Given the description of an element on the screen output the (x, y) to click on. 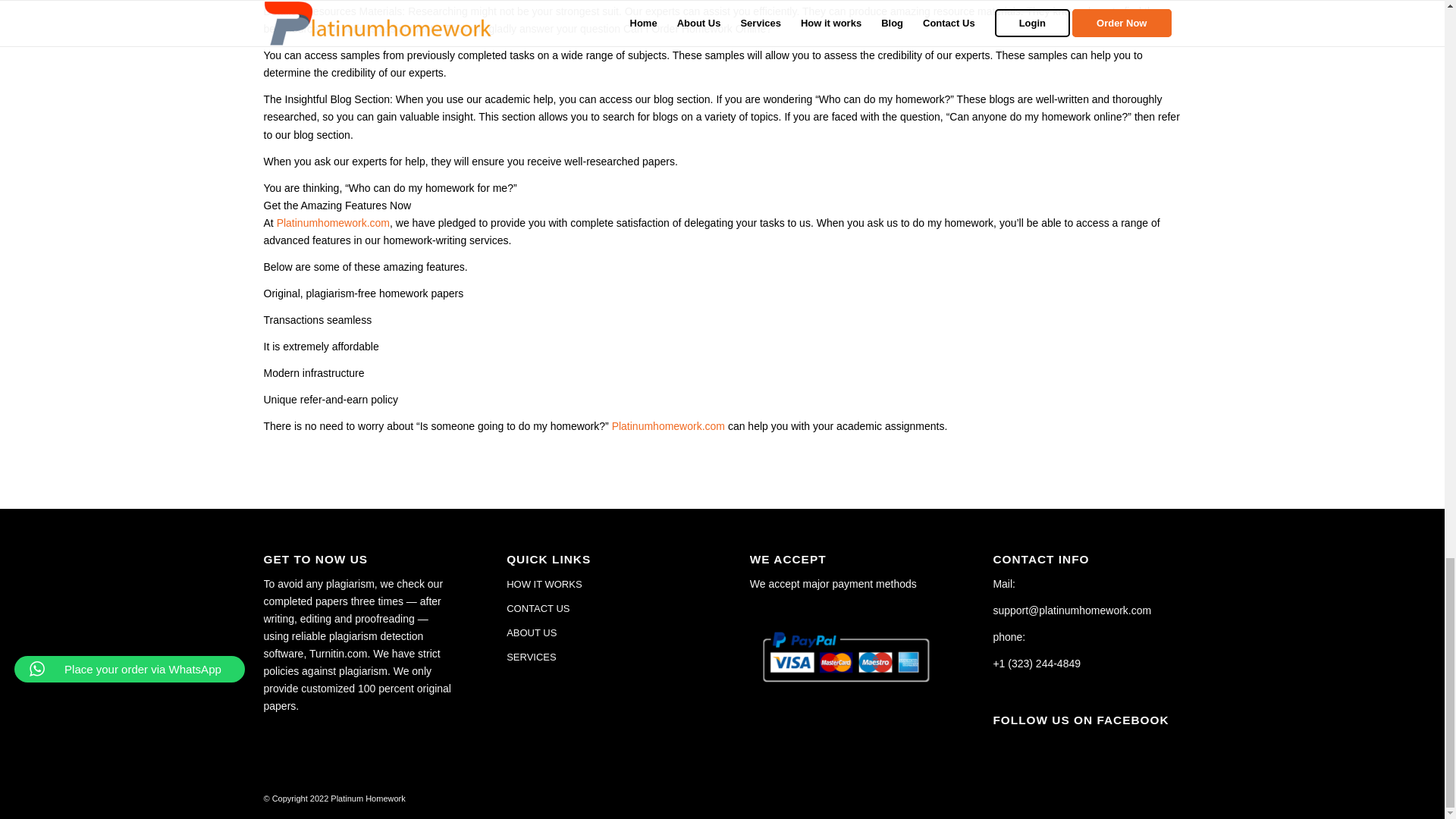
Platinumhomework.com (668, 426)
SERVICES (600, 657)
ABOUT US (600, 632)
CONTACT US (600, 608)
Platinumhomework.com (333, 223)
HOW IT WORKS (600, 584)
